Given the description of an element on the screen output the (x, y) to click on. 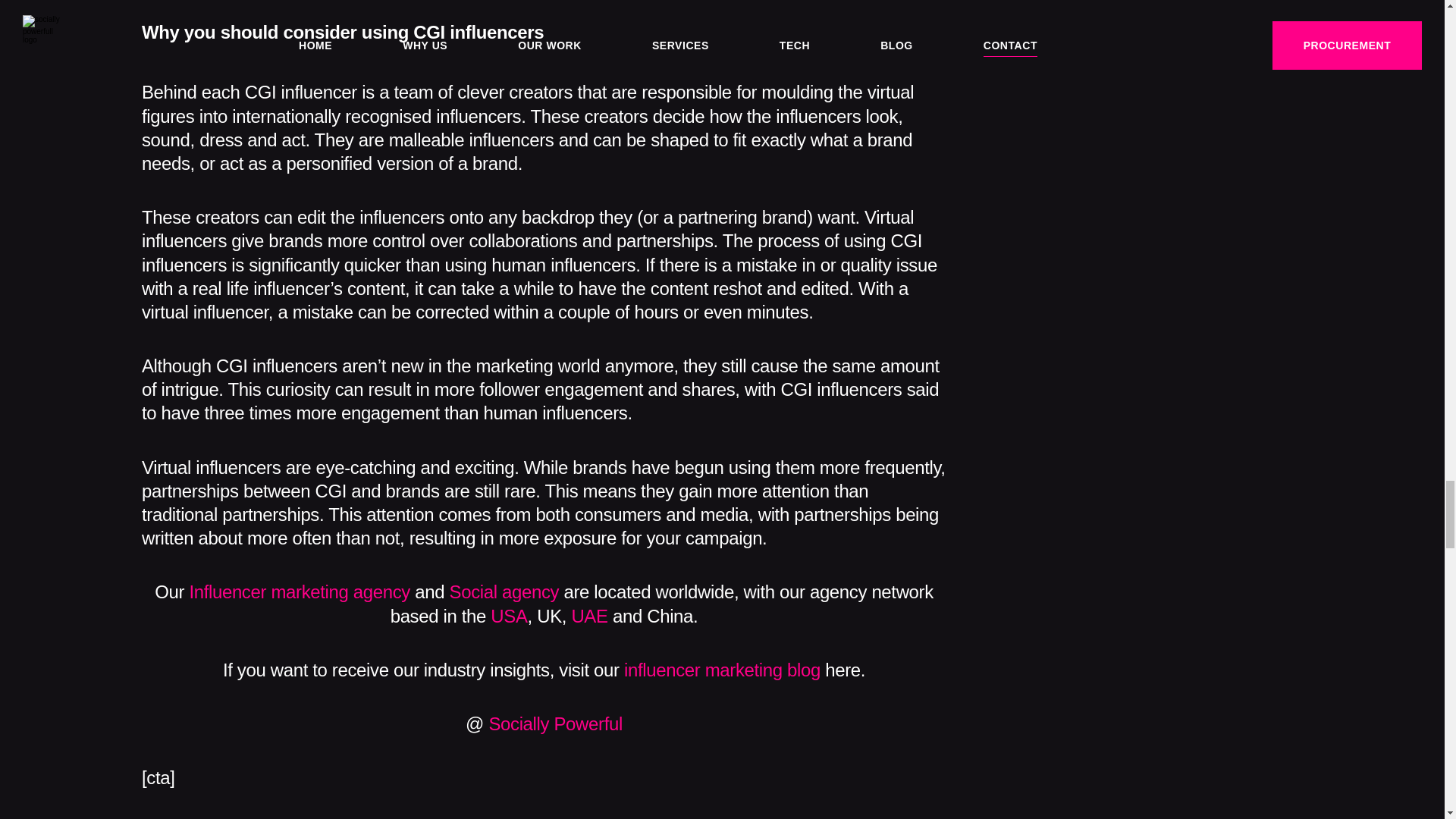
Influencer marketing agency (299, 591)
influencer marketing blog (722, 669)
Socially Powerful (555, 723)
Social agency (504, 591)
